Given the description of an element on the screen output the (x, y) to click on. 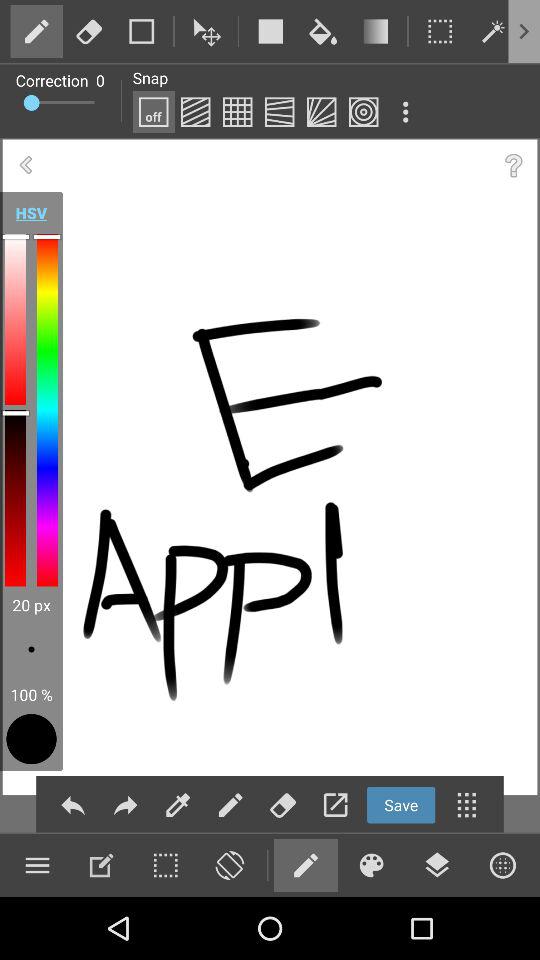
back ward (72, 804)
